Given the description of an element on the screen output the (x, y) to click on. 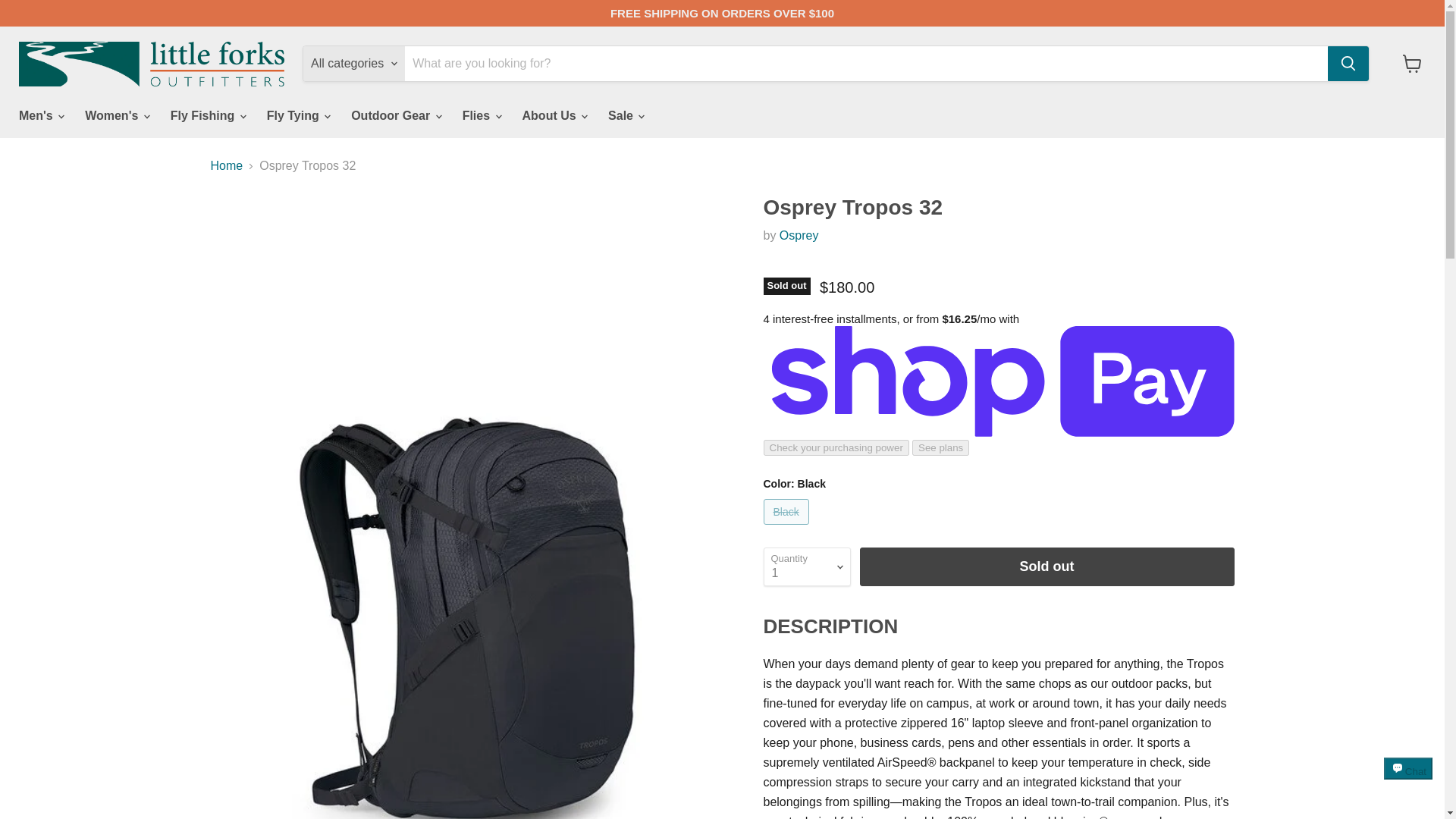
Shopify online store chat (1408, 781)
Osprey (798, 235)
View cart (1411, 63)
